Given the description of an element on the screen output the (x, y) to click on. 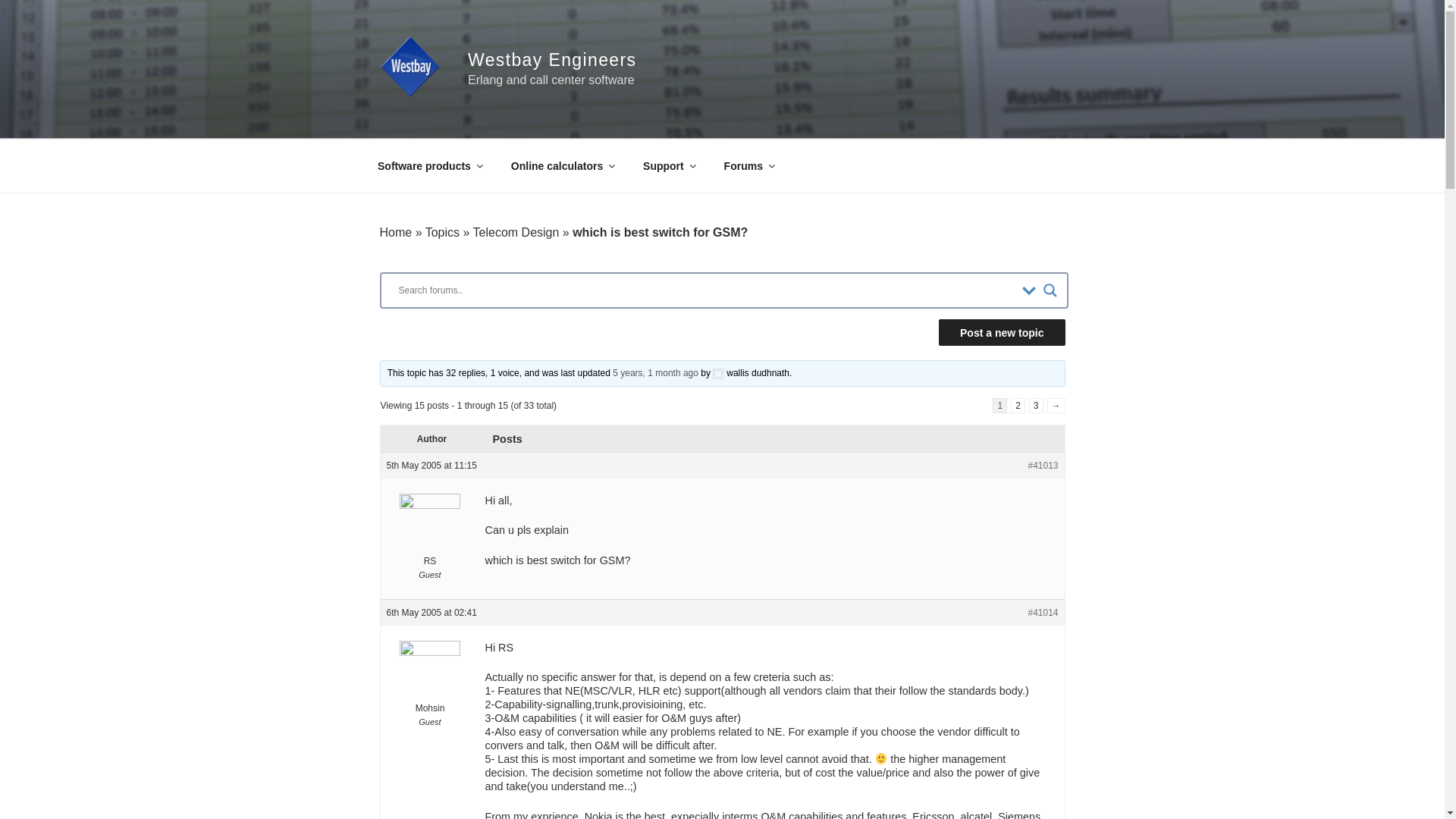
Forums (748, 165)
Support (668, 165)
Post a new topic (1001, 332)
Westbay Engineers (551, 59)
Reply To: which is best switch for GSM? (655, 372)
Software products (429, 165)
Online calculators (561, 165)
